Given the description of an element on the screen output the (x, y) to click on. 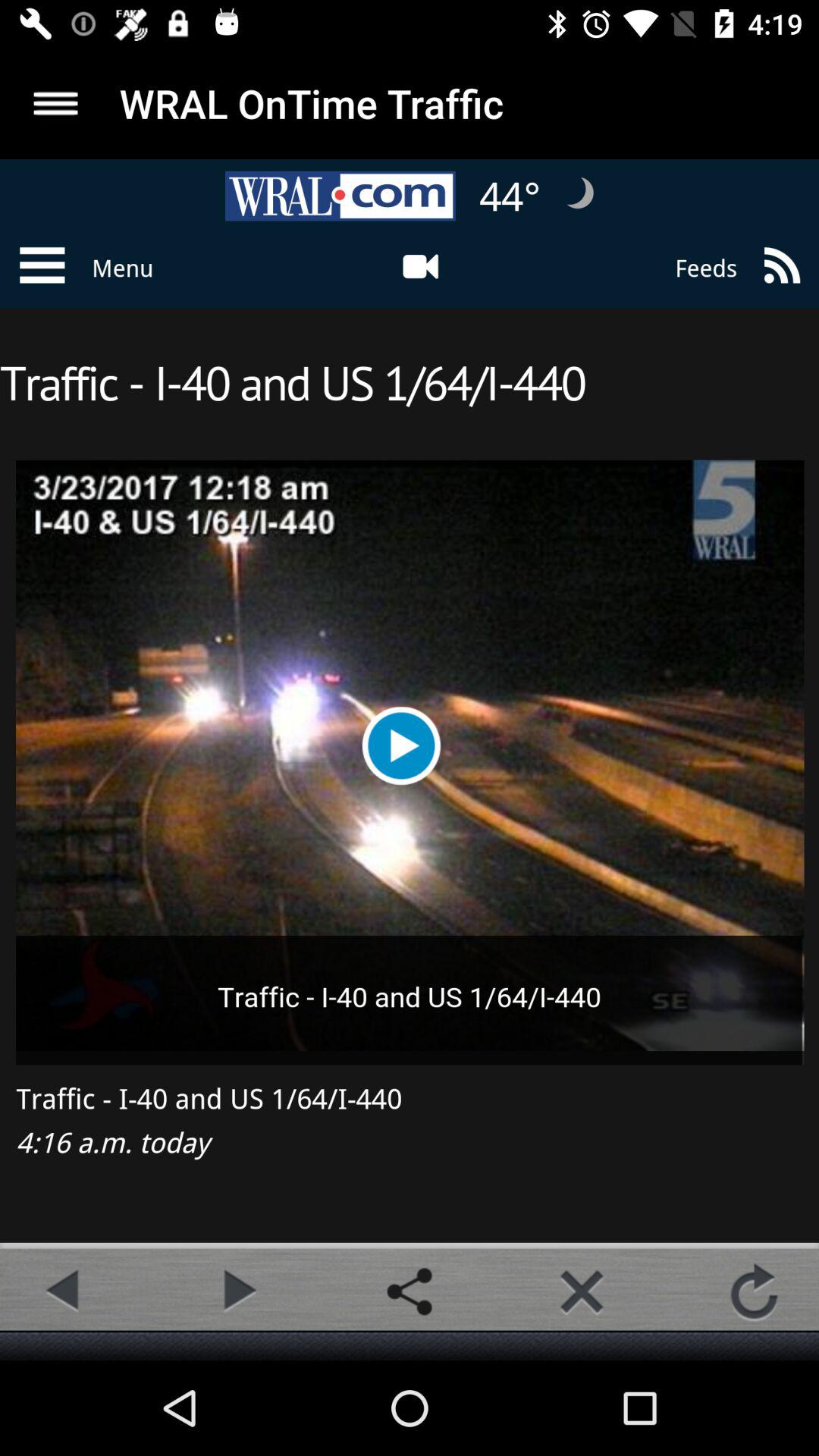
share it (409, 1291)
